Given the description of an element on the screen output the (x, y) to click on. 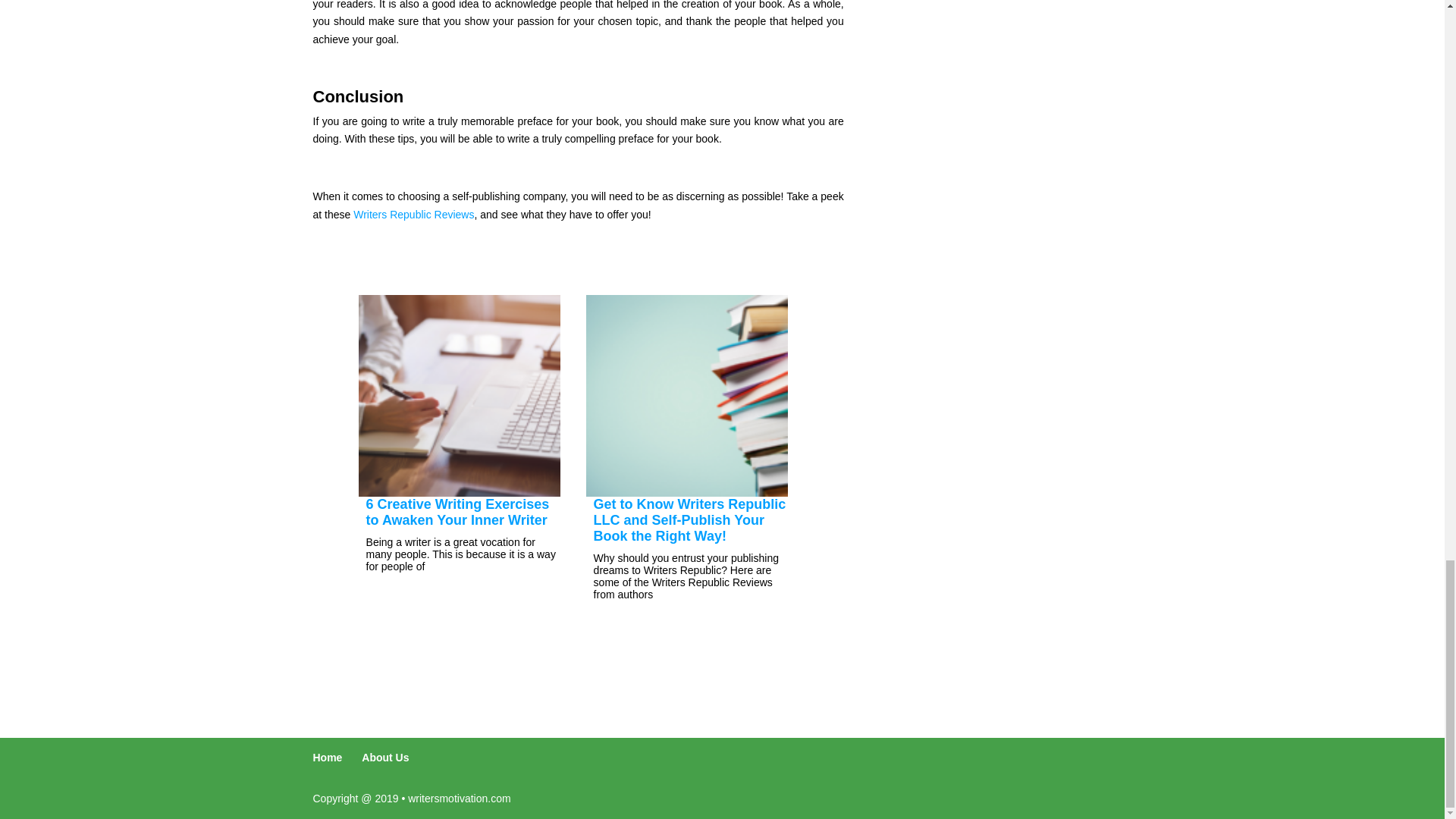
Writers Republic Reviews (413, 214)
Home (327, 757)
6 Creative Writing Exercises to Awaken Your Inner Writer (458, 511)
